Given the description of an element on the screen output the (x, y) to click on. 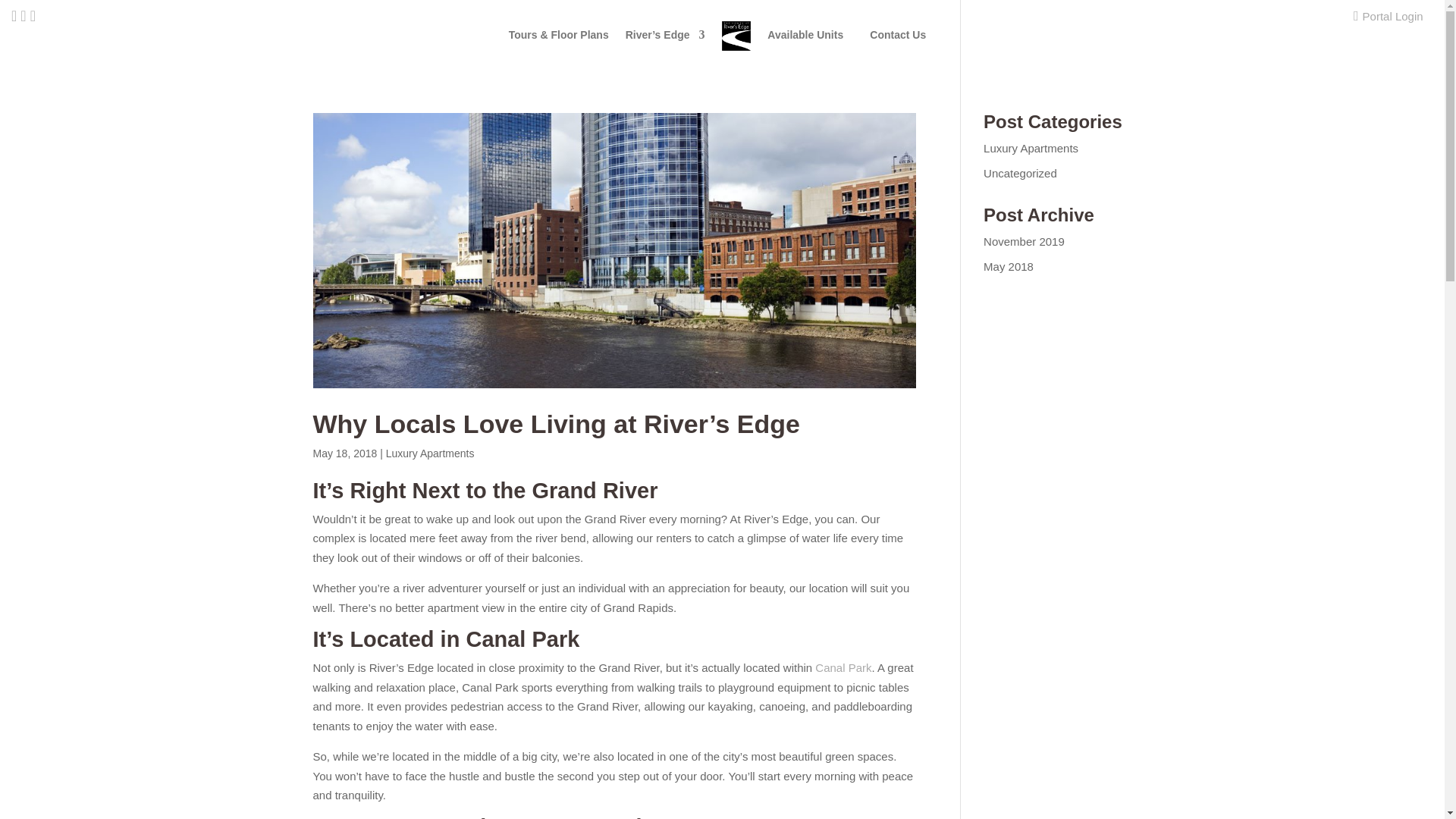
May 2018 (1008, 265)
Uncategorized (1020, 173)
November 2019 (1024, 241)
Luxury Apartments (1031, 147)
Canal Park (842, 667)
Available Units (805, 48)
Luxury Apartments (429, 453)
Contact Us (898, 48)
